Given the description of an element on the screen output the (x, y) to click on. 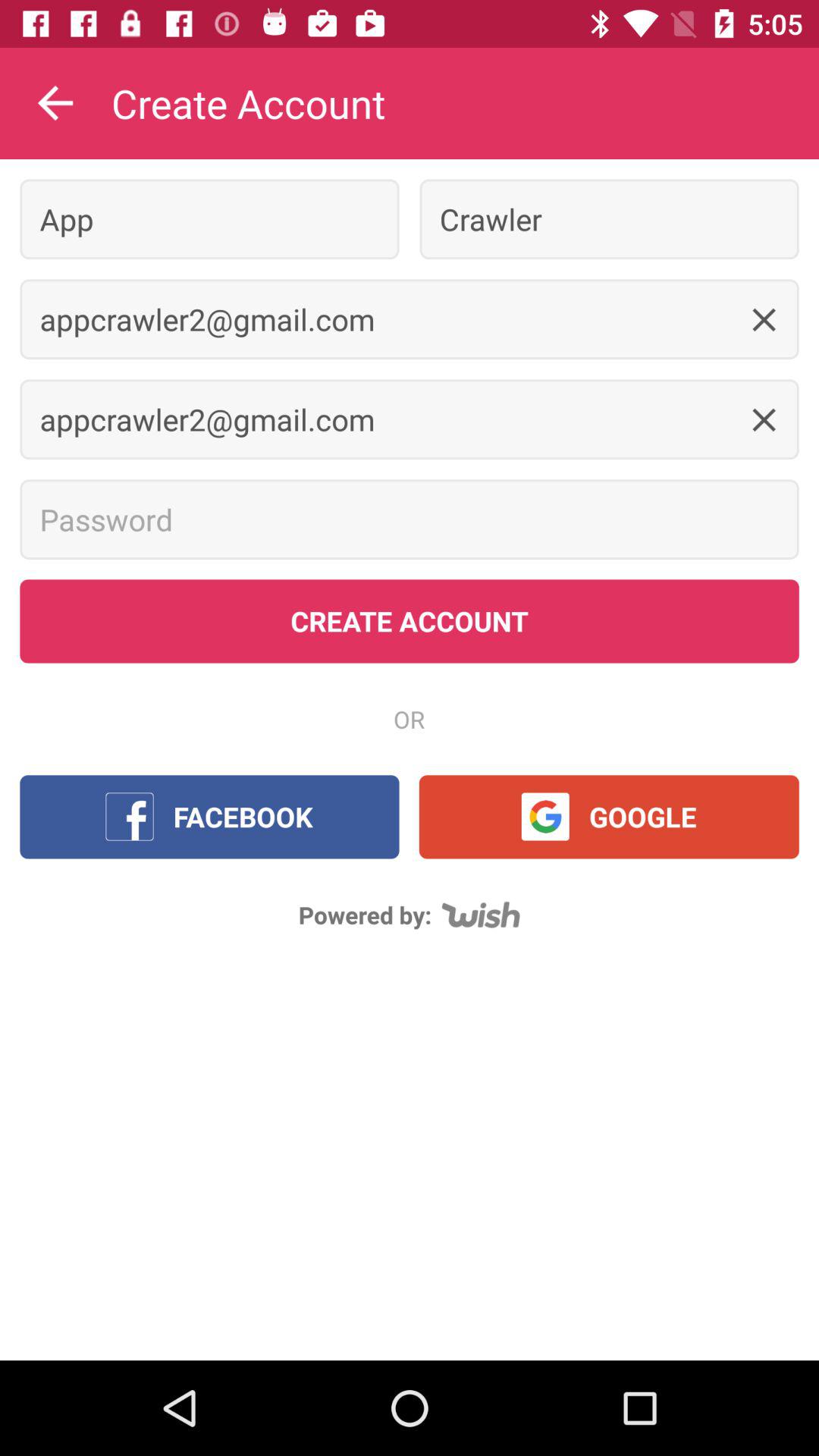
tap the app icon (209, 219)
